Given the description of an element on the screen output the (x, y) to click on. 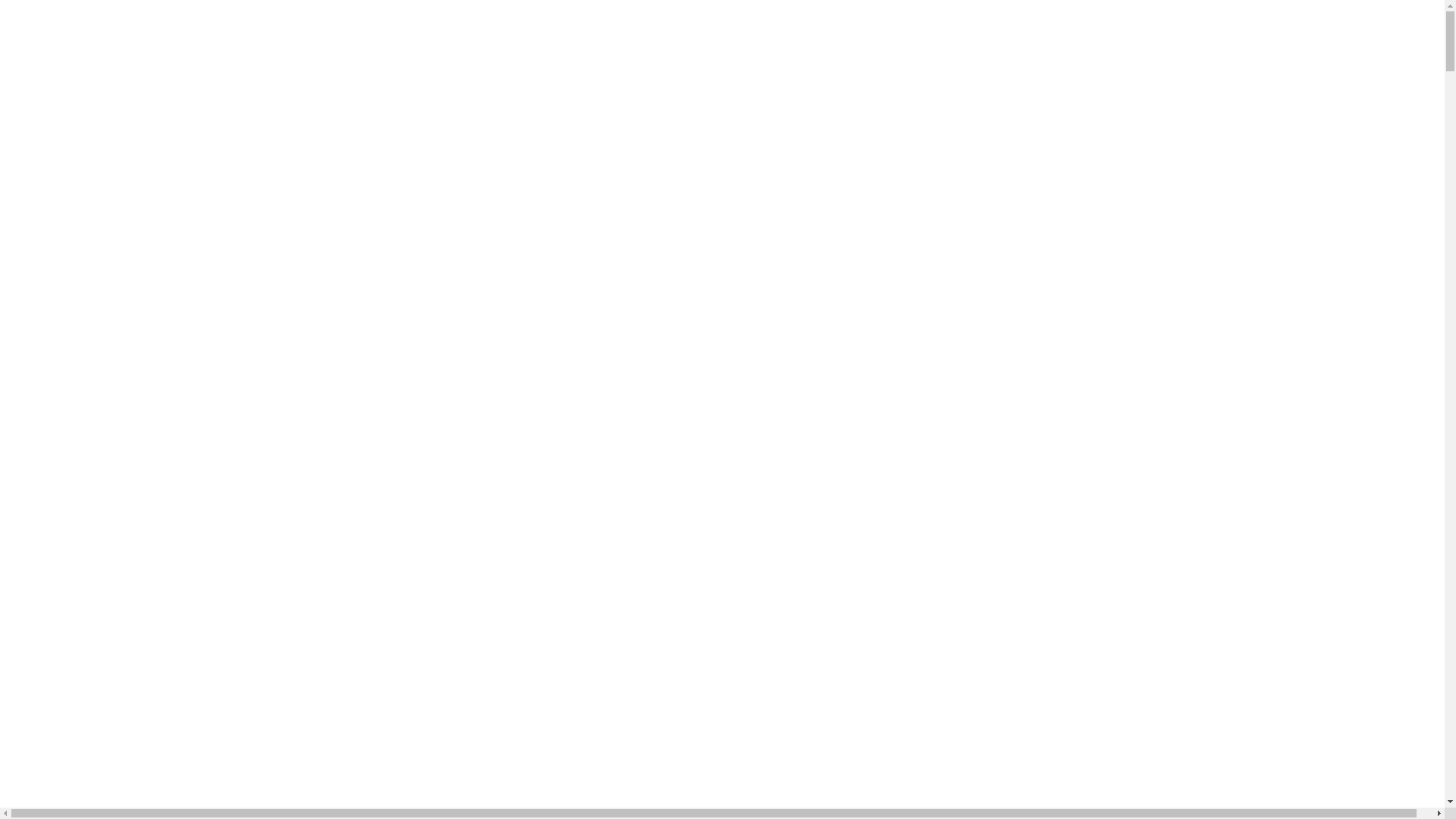
Skip to main content Element type: text (6, 15)
